Given the description of an element on the screen output the (x, y) to click on. 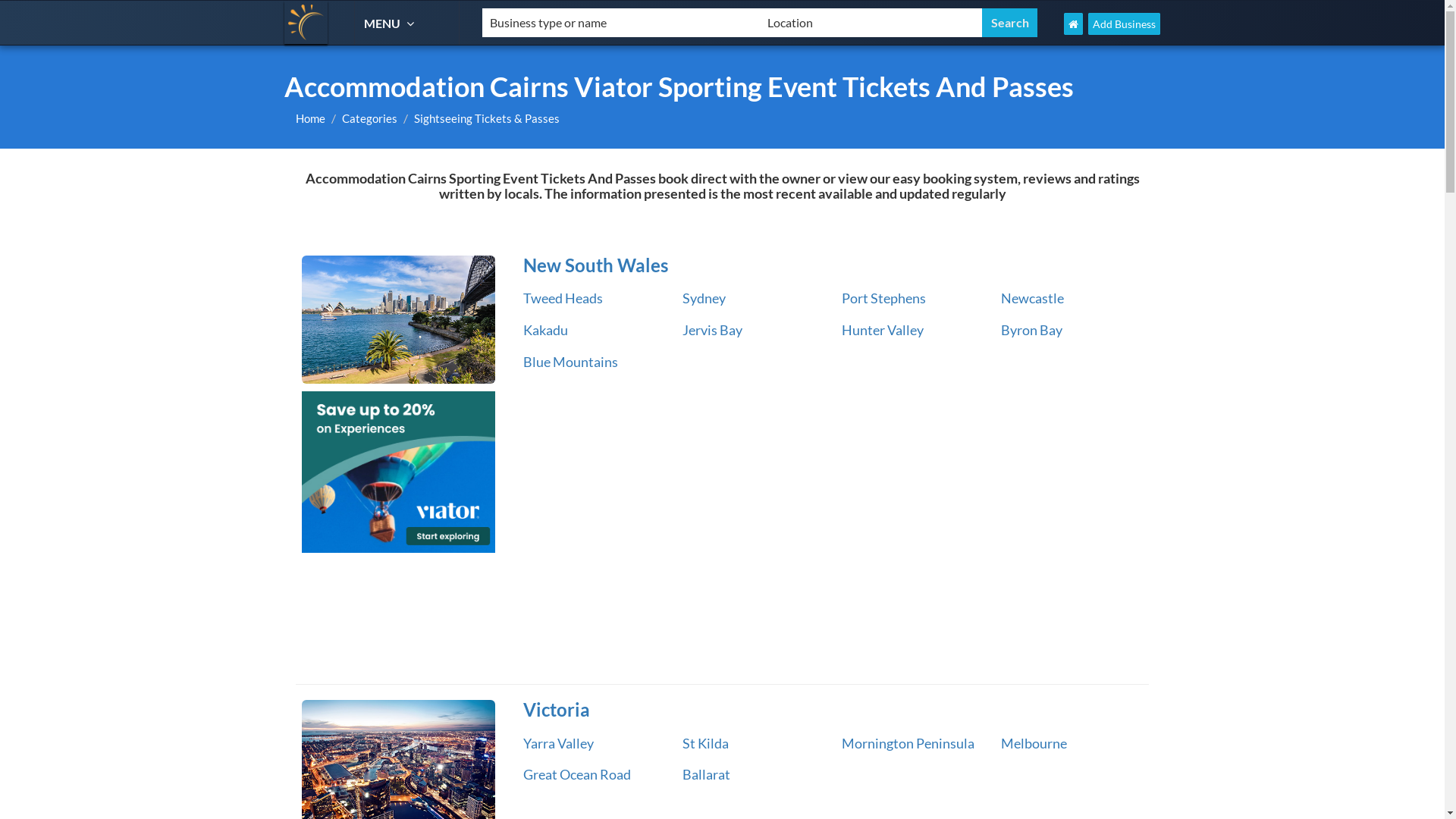
Sydney Element type: text (703, 297)
New South Wales Element type: hover (398, 319)
Byron Bay Element type: text (1031, 329)
Hunter Valley Element type: text (882, 329)
Ballarat Element type: text (706, 773)
Blue Mountains Element type: text (570, 361)
Categories Element type: text (369, 118)
Home Element type: text (310, 118)
Sightseeing Tickets & Passes Element type: text (486, 118)
MENU Element type: text (390, 22)
St Kilda Element type: text (705, 742)
Melbourne Element type: text (1033, 742)
Search Element type: text (1009, 22)
Mornington Peninsula Element type: text (907, 742)
Accommodation Cairns Home Page Element type: hover (1072, 23)
Tweed Heads Element type: text (562, 297)
Newcastle Element type: text (1032, 297)
Great Ocean Road Element type: text (576, 773)
Kakadu Element type: text (545, 329)
Yarra Valley Element type: text (558, 742)
New South Wales Element type: text (830, 265)
Add Business Element type: text (1124, 23)
Port Stephens Element type: text (883, 297)
Jervis Bay Element type: text (712, 329)
Accommodation Cairns Element type: hover (305, 21)
Victoria Element type: text (830, 709)
